Given the description of an element on the screen output the (x, y) to click on. 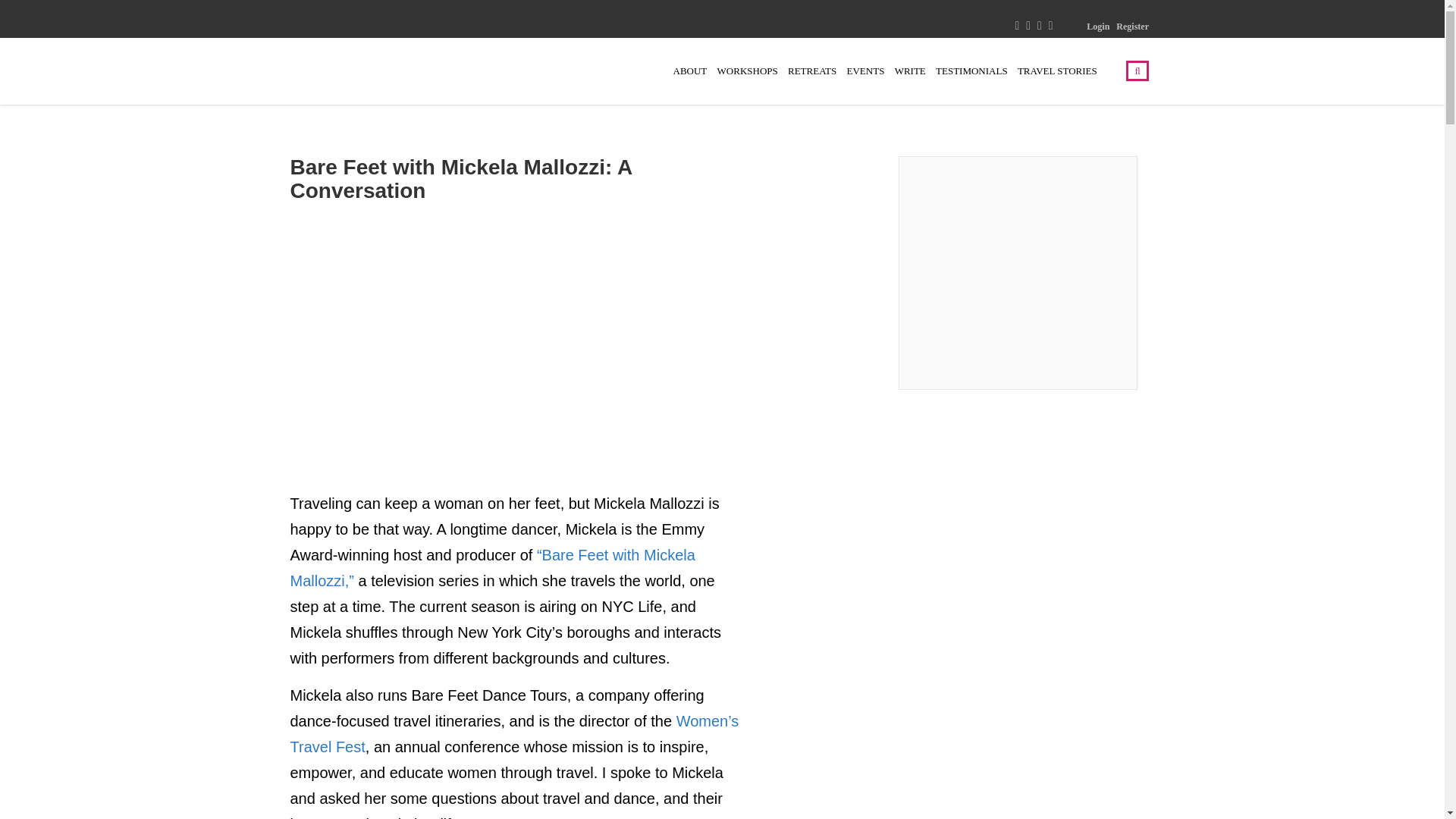
WORKSHOPS (747, 70)
Register (1132, 26)
Login (1097, 26)
Sign Up (820, 702)
RETREATS (811, 70)
on (485, 746)
